Given the description of an element on the screen output the (x, y) to click on. 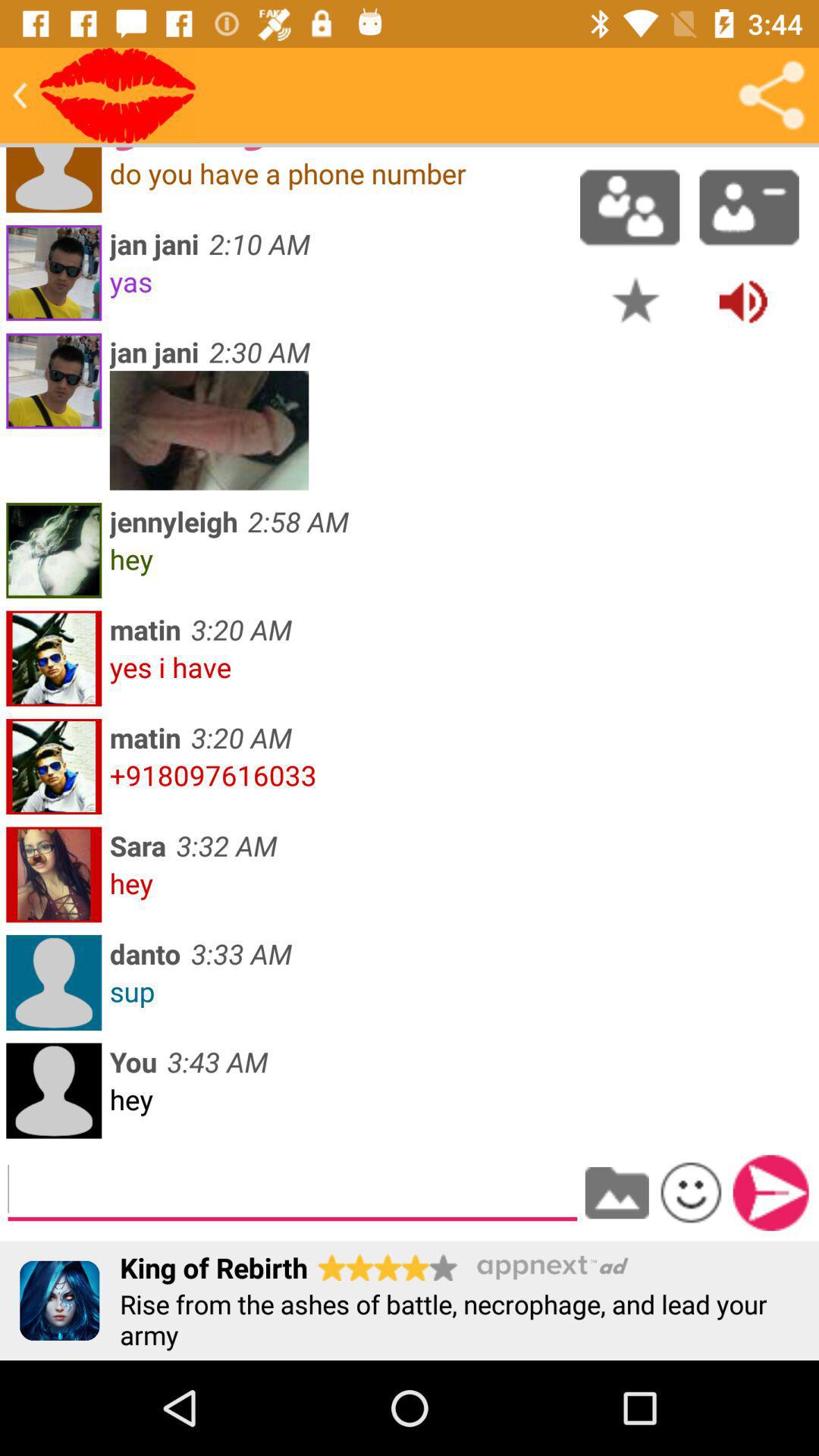
show groups (629, 207)
